Given the description of an element on the screen output the (x, y) to click on. 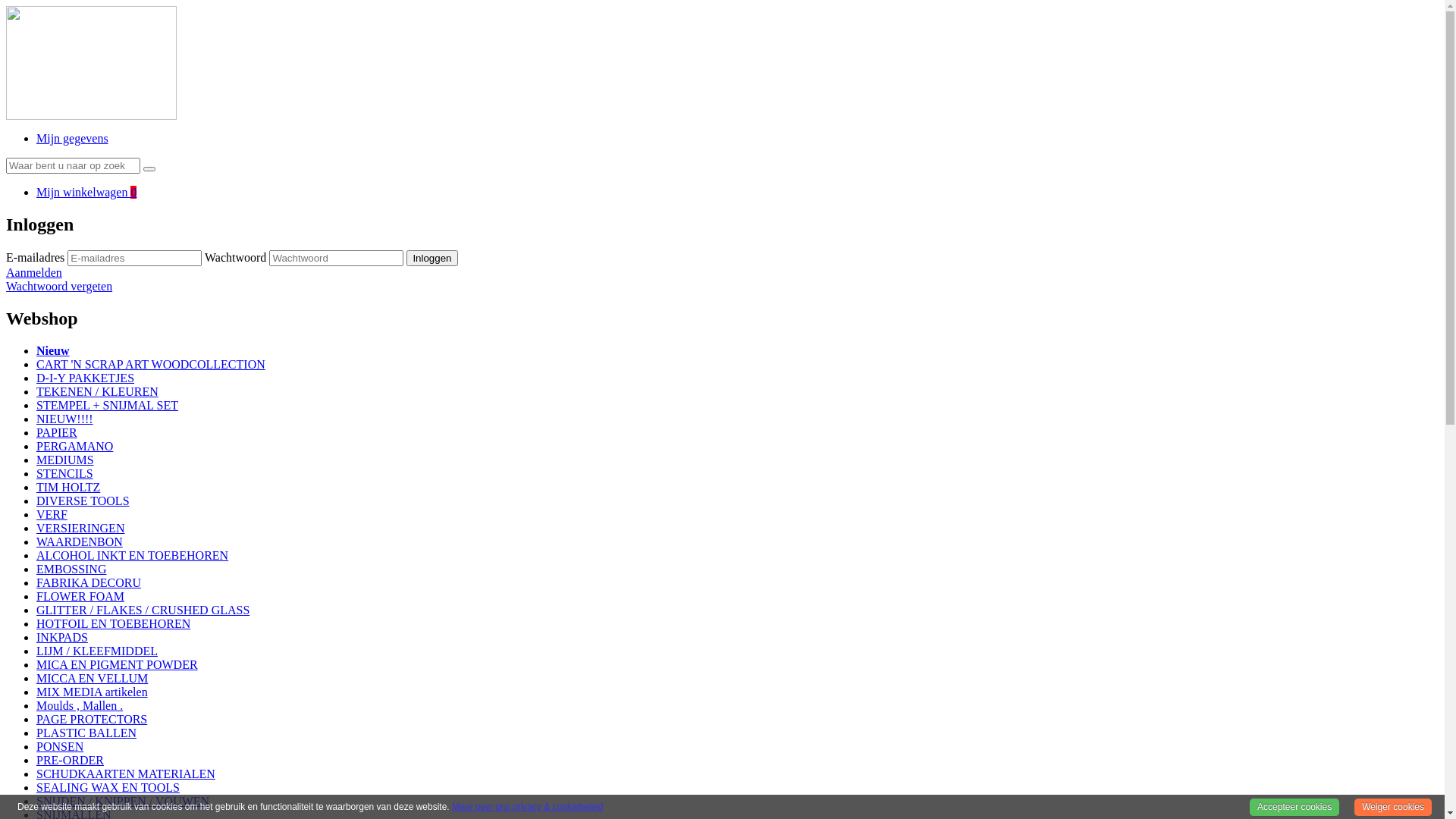
TIM HOLTZ Element type: text (68, 486)
FLOWER FOAM Element type: text (80, 595)
Aanmelden Element type: text (34, 272)
STENCILS Element type: text (64, 473)
INKPADS Element type: text (61, 636)
NIEUW!!!! Element type: text (64, 418)
DIVERSE TOOLS Element type: text (82, 500)
Mijn gegevens Element type: text (72, 137)
Meer over ons privacy & cookiebeleid Element type: text (526, 806)
TEKENEN / KLEUREN Element type: text (97, 391)
ALCOHOL INKT EN TOEBEHOREN Element type: text (132, 555)
Inloggen Element type: text (431, 258)
PRE-ORDER Element type: text (69, 759)
SCHUDKAARTEN MATERIALEN Element type: text (125, 773)
Accepteer cookies Element type: text (1294, 807)
MEDIUMS Element type: text (65, 459)
MICA EN PIGMENT POWDER Element type: text (116, 664)
PERGAMANO Element type: text (74, 445)
Nieuw Element type: text (52, 350)
FABRIKA DECORU Element type: text (88, 582)
WAARDENBON Element type: text (79, 541)
STEMPEL + SNIJMAL SET Element type: text (107, 404)
GLITTER / FLAKES / CRUSHED GLASS Element type: text (142, 609)
EMBOSSING Element type: text (71, 568)
PAGE PROTECTORS Element type: text (91, 718)
PAPIER Element type: text (56, 432)
VERF Element type: text (51, 514)
MIX MEDIA artikelen Element type: text (91, 691)
SNIJDEN / KNIPPEN / VOUWEN Element type: text (122, 800)
Moulds , Mallen . Element type: text (79, 705)
VERSIERINGEN Element type: text (80, 527)
HOTFOIL EN TOEBEHOREN Element type: text (113, 623)
LIJM / KLEEFMIDDEL Element type: text (96, 650)
MICCA EN VELLUM Element type: text (91, 677)
SEALING WAX EN TOOLS Element type: text (107, 787)
D-I-Y PAKKETJES Element type: text (85, 377)
Mijn winkelwagen 0 Element type: text (86, 191)
PLASTIC BALLEN Element type: text (86, 732)
Weiger cookies Element type: text (1392, 807)
CART 'N SCRAP ART WOODCOLLECTION Element type: text (150, 363)
Wachtwoord vergeten Element type: text (59, 285)
PONSEN Element type: text (59, 746)
